Given the description of an element on the screen output the (x, y) to click on. 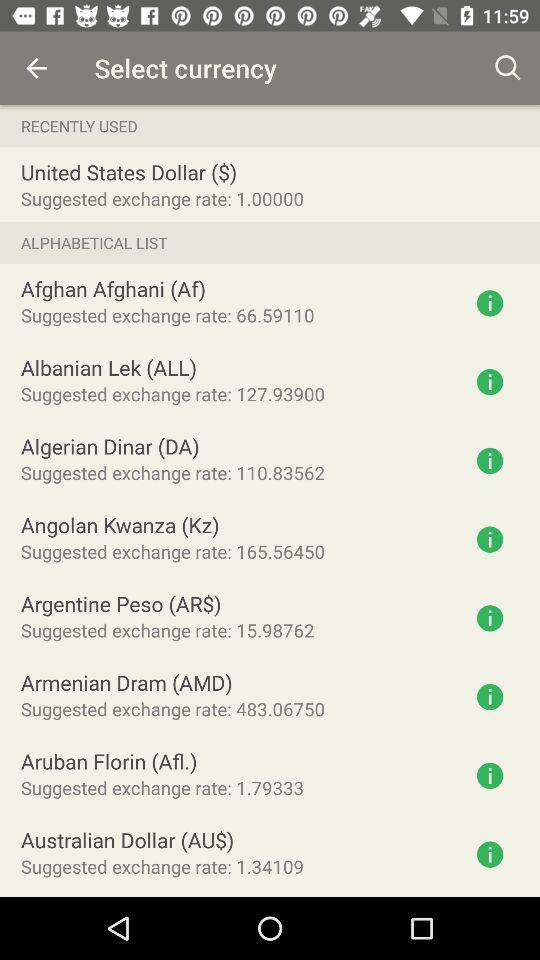
click more information button (490, 303)
